Given the description of an element on the screen output the (x, y) to click on. 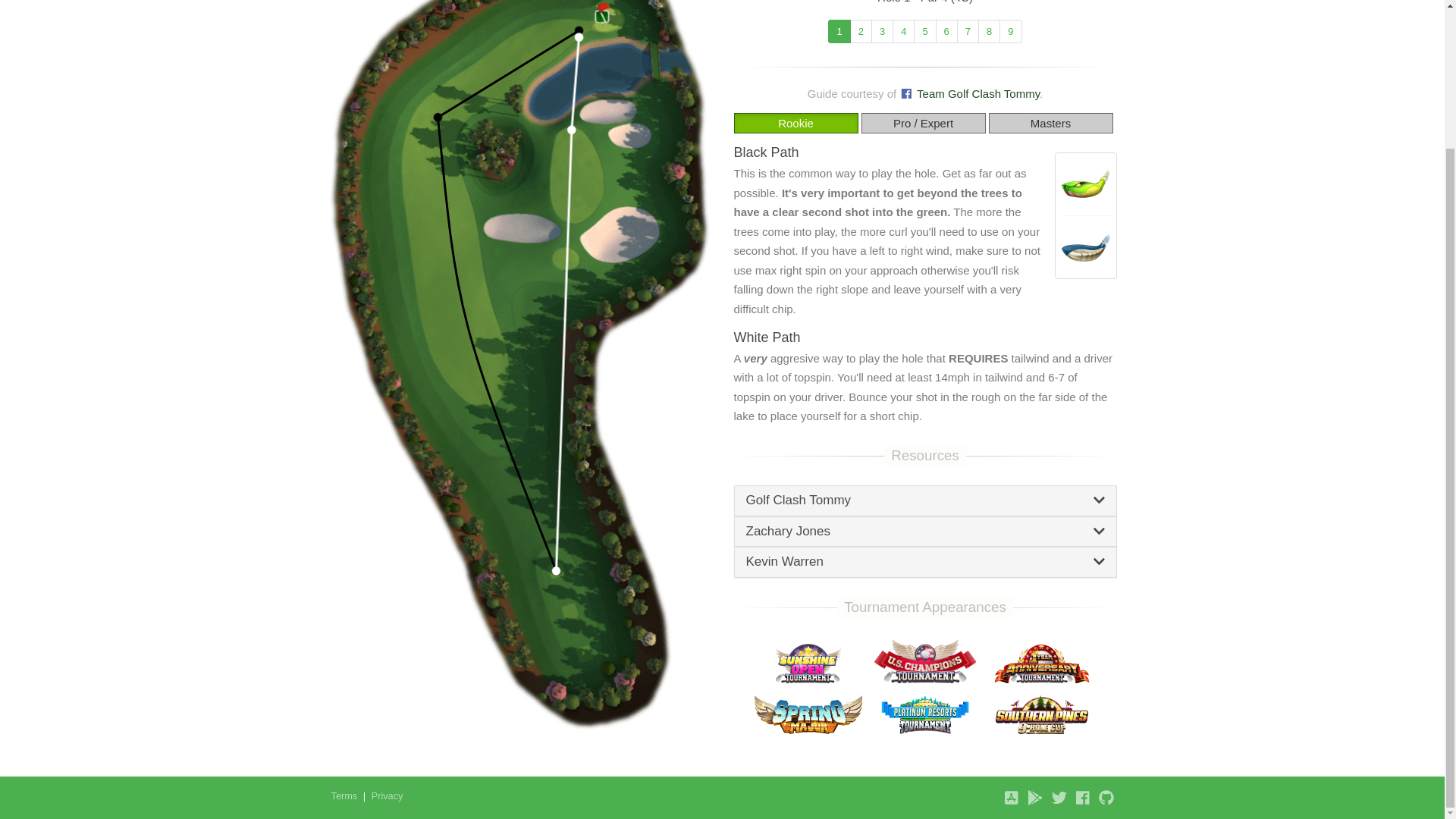
5 (925, 31)
on (897, 121)
9 (1010, 31)
8 (989, 31)
1 (839, 31)
on (1035, 121)
on (782, 121)
2 (861, 31)
6 (947, 31)
4 (903, 31)
3 (881, 31)
7 (967, 31)
